Given the description of an element on the screen output the (x, y) to click on. 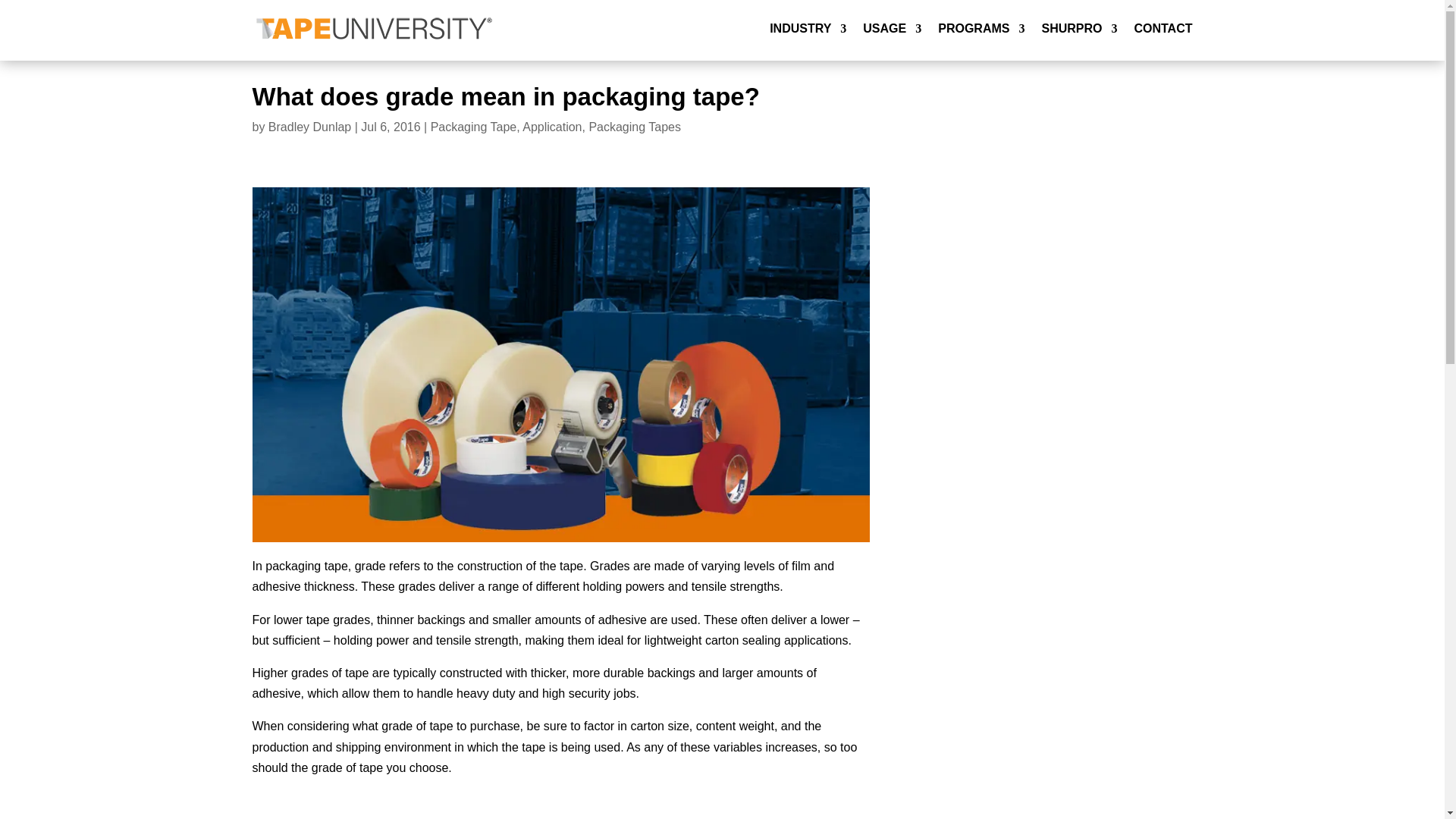
Packaging Tapes (634, 126)
PROGRAMS (981, 28)
INDUSTRY (807, 28)
USAGE (892, 28)
Posts by Bradley Dunlap (308, 126)
SHURPRO (1078, 28)
CONTACT (1163, 28)
Application (551, 126)
Search (1167, 196)
